Given the description of an element on the screen output the (x, y) to click on. 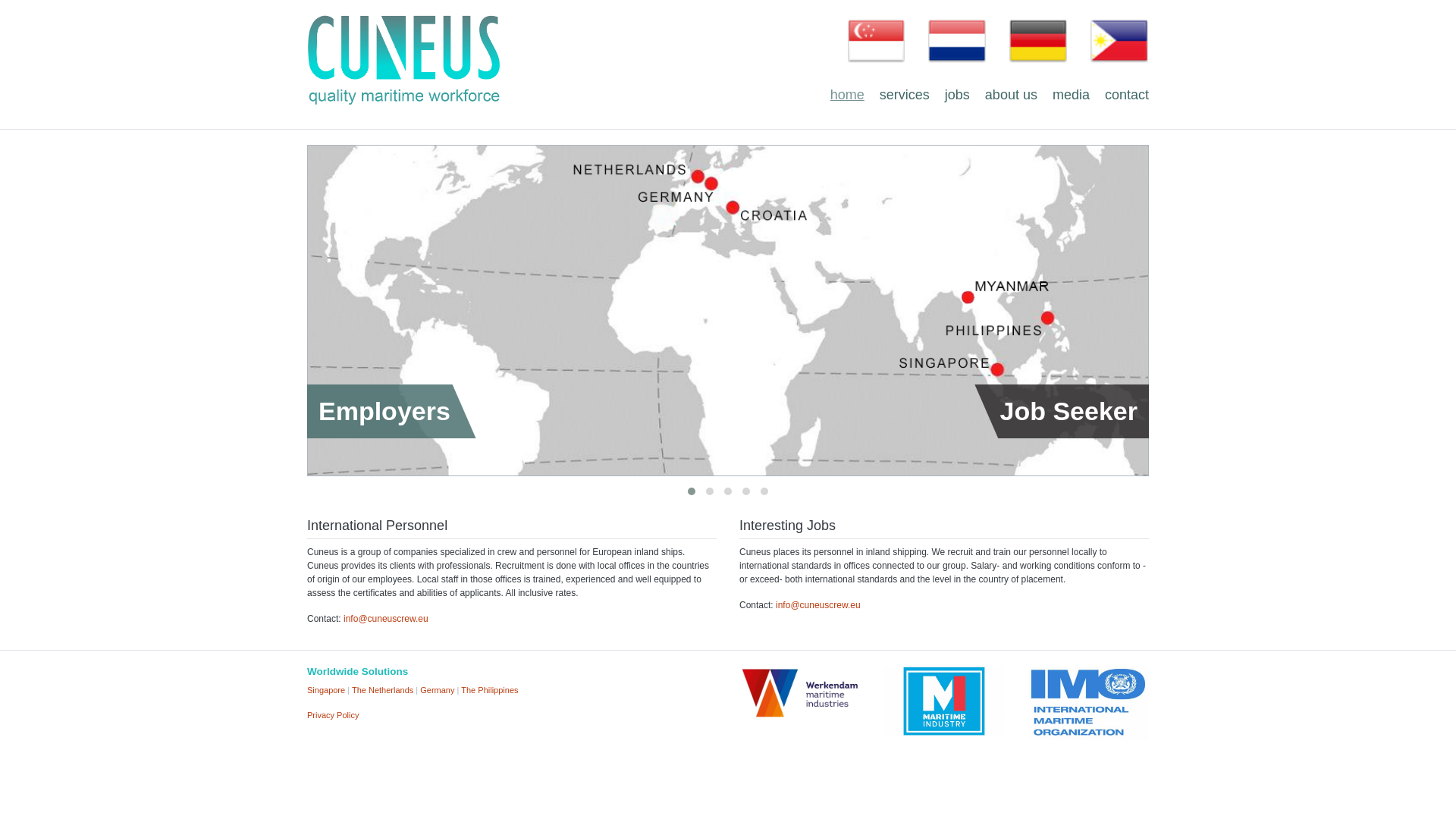
Singapore (876, 40)
Job Seeker (1061, 403)
Employers (1061, 403)
Deutschland (1038, 40)
Job Seeker (219, 403)
Nederland (956, 40)
media (1070, 95)
Employers (219, 403)
about us (1010, 95)
Employers (392, 403)
Cuneus (403, 60)
Employers (392, 403)
contact (1126, 95)
home (846, 95)
services (904, 95)
